Given the description of an element on the screen output the (x, y) to click on. 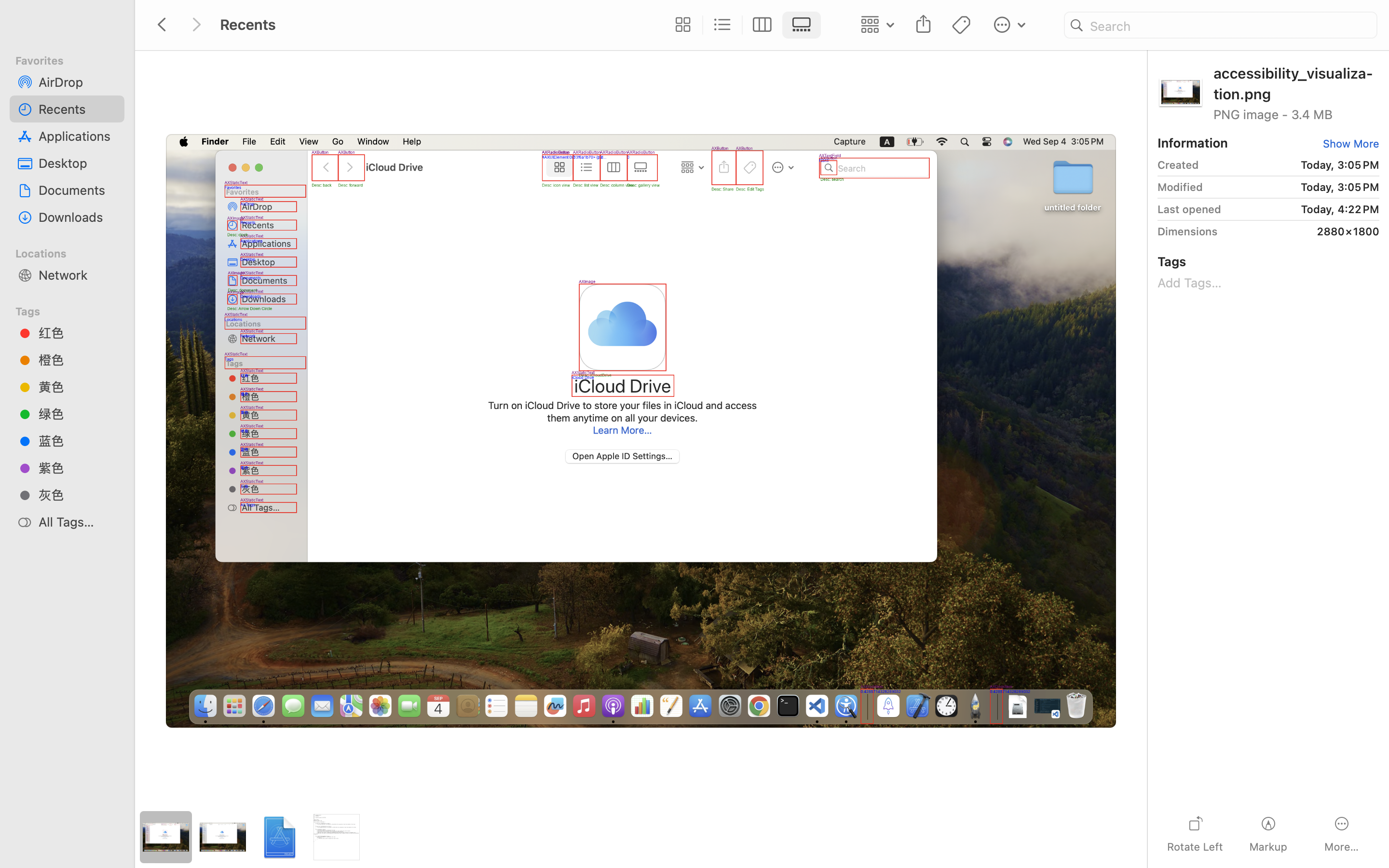
灰色 Element type: AXStaticText (77, 494)
Locations Element type: AXStaticText (72, 252)
Tags… Element type: AXStaticText (20, 860)
